Given the description of an element on the screen output the (x, y) to click on. 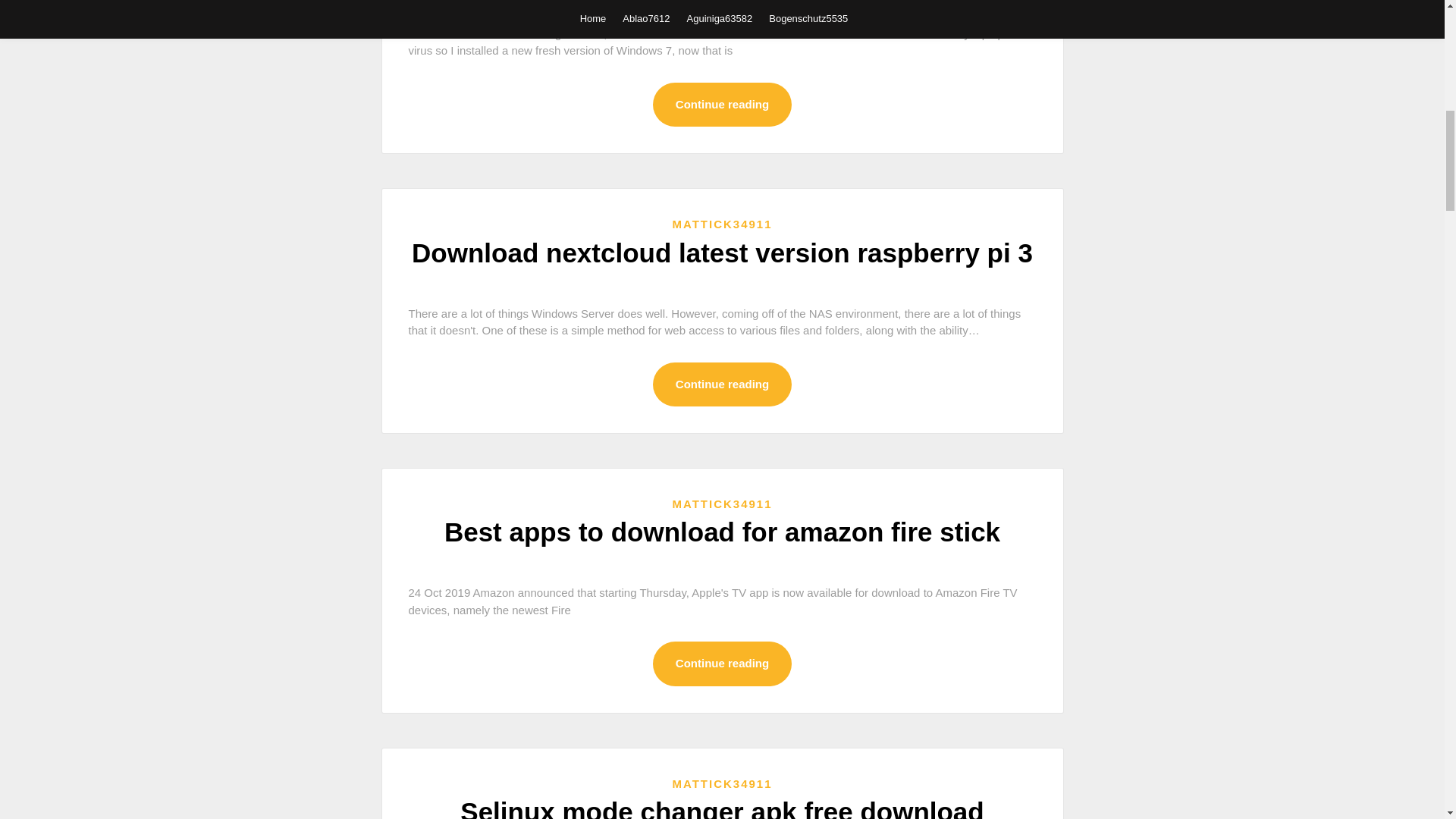
Continue reading (722, 104)
Continue reading (722, 384)
Continue reading (722, 663)
MATTICK34911 (721, 783)
MATTICK34911 (721, 503)
Best apps to download for amazon fire stick (722, 531)
Download nextcloud latest version raspberry pi 3 (722, 252)
MATTICK34911 (721, 223)
Selinux mode changer apk free download (722, 807)
